Given the description of an element on the screen output the (x, y) to click on. 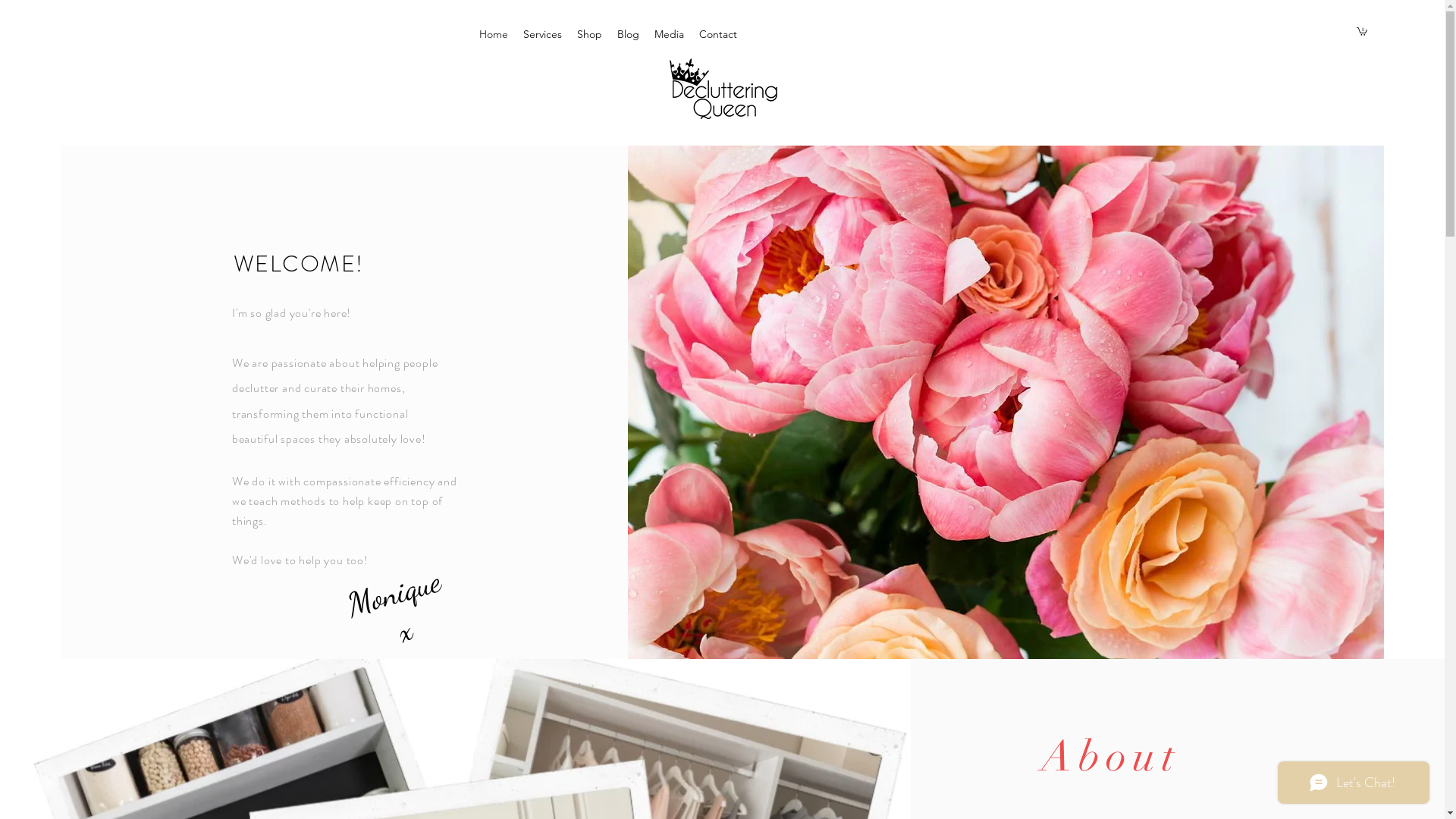
Media Element type: text (668, 33)
Blog Element type: text (627, 33)
Shop Element type: text (589, 33)
0 Element type: text (1361, 30)
Contact Element type: text (717, 33)
Home Element type: text (493, 33)
Services Element type: text (542, 33)
